Given the description of an element on the screen output the (x, y) to click on. 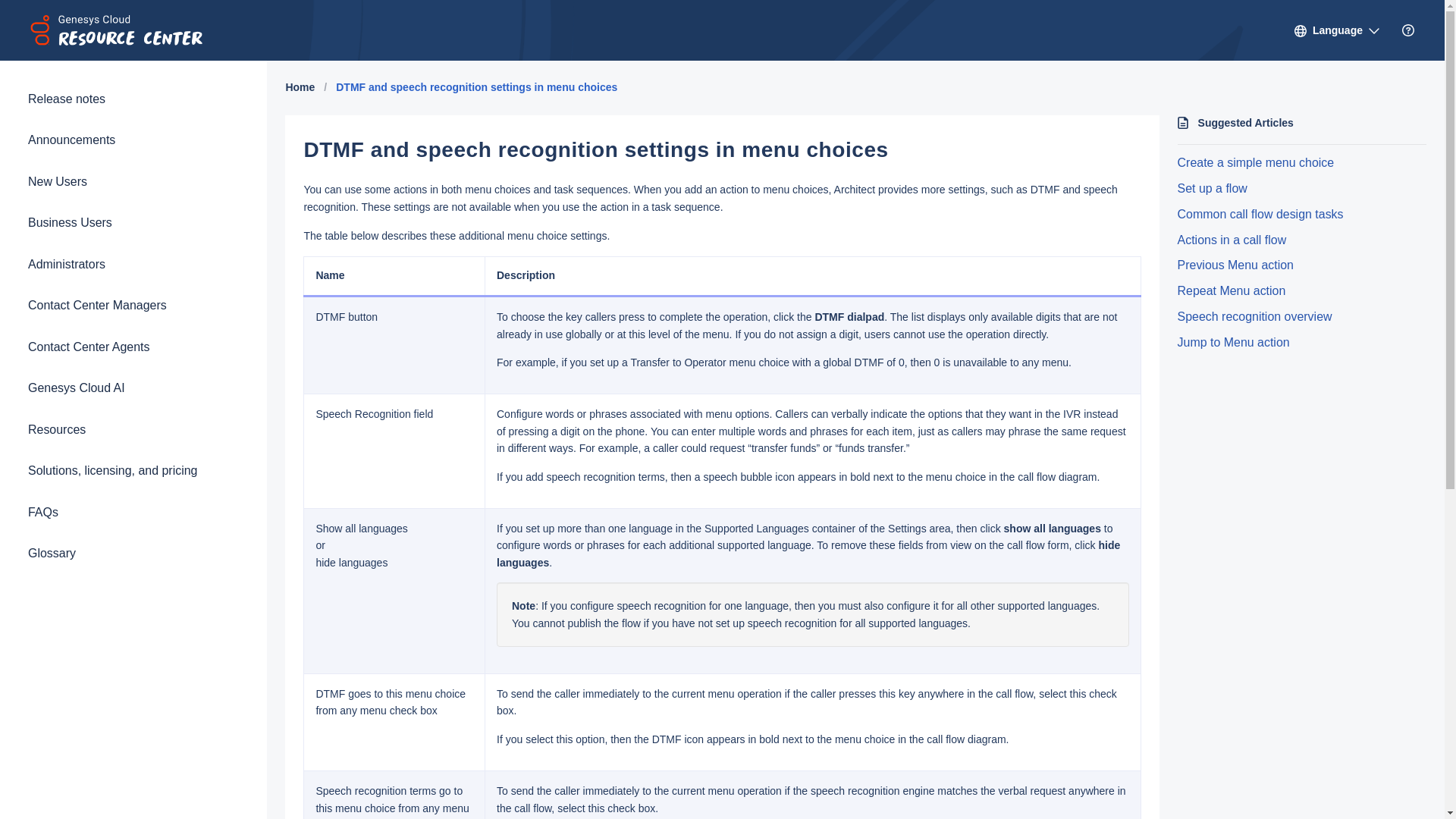
Contact Center Agents (132, 347)
Administrators (132, 264)
Solutions, licensing, and pricing (132, 470)
Announcements (132, 139)
Language (1337, 36)
Glossary (132, 553)
Release notes (132, 98)
Genesys Cloud Resource Center (136, 30)
Business Users (132, 222)
Home (299, 87)
